Given the description of an element on the screen output the (x, y) to click on. 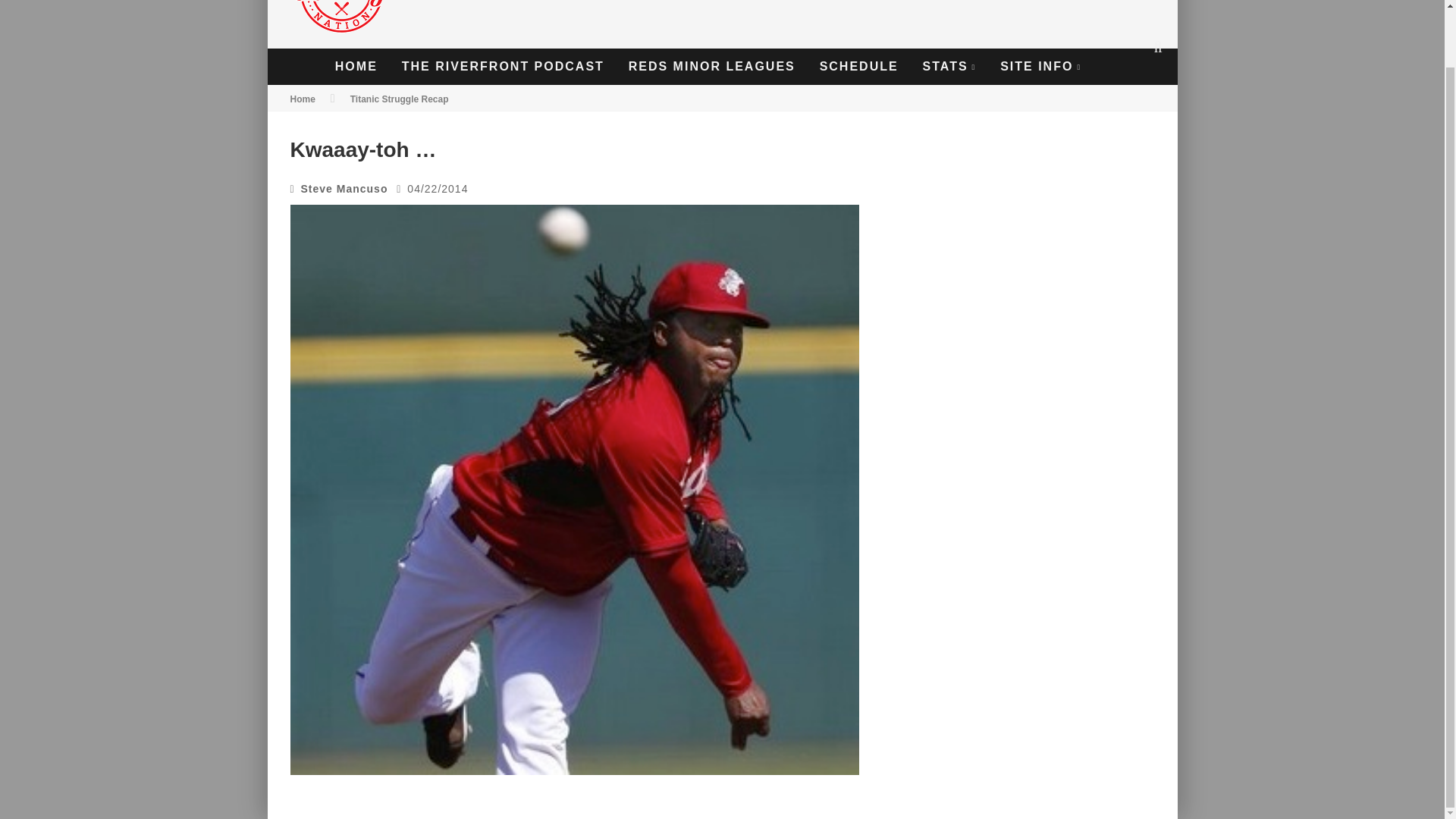
SCHEDULE (859, 66)
Steve Mancuso (344, 188)
Home (301, 99)
STATS (949, 66)
Titanic Struggle Recap (399, 99)
View all posts in Titanic Struggle Recap (399, 99)
THE RIVERFRONT PODCAST (502, 66)
HOME (355, 66)
SITE INFO (1040, 66)
REDS MINOR LEAGUES (711, 66)
